Given the description of an element on the screen output the (x, y) to click on. 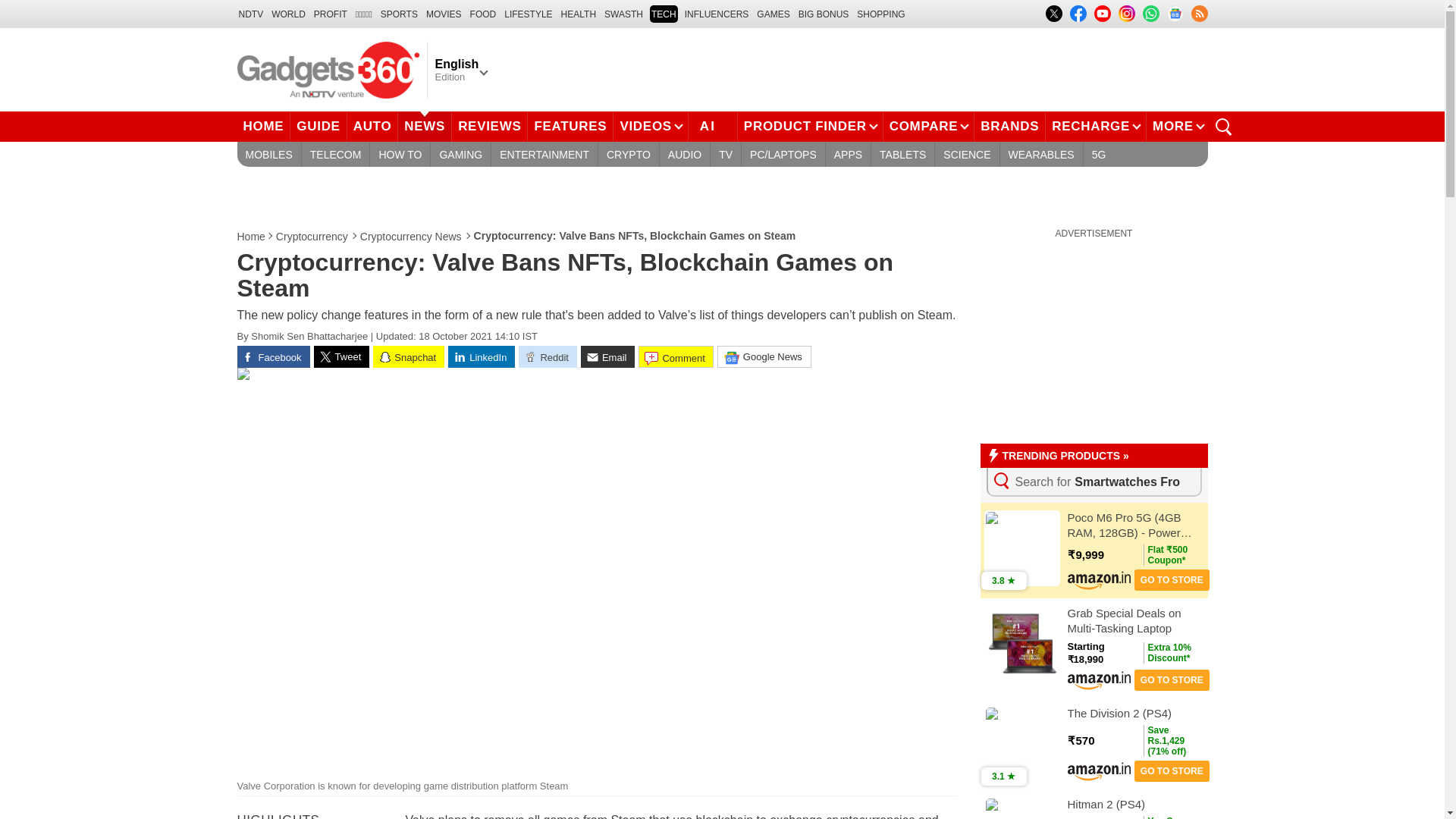
INFLUENCERS (716, 13)
FOOD (482, 13)
PROFIT (331, 13)
Sports (398, 13)
Big Bonus (823, 13)
SWASTH (623, 13)
LIFESTYLE (527, 13)
REVIEWS (489, 126)
NDTV (249, 13)
AUTO (372, 126)
